Given the description of an element on the screen output the (x, y) to click on. 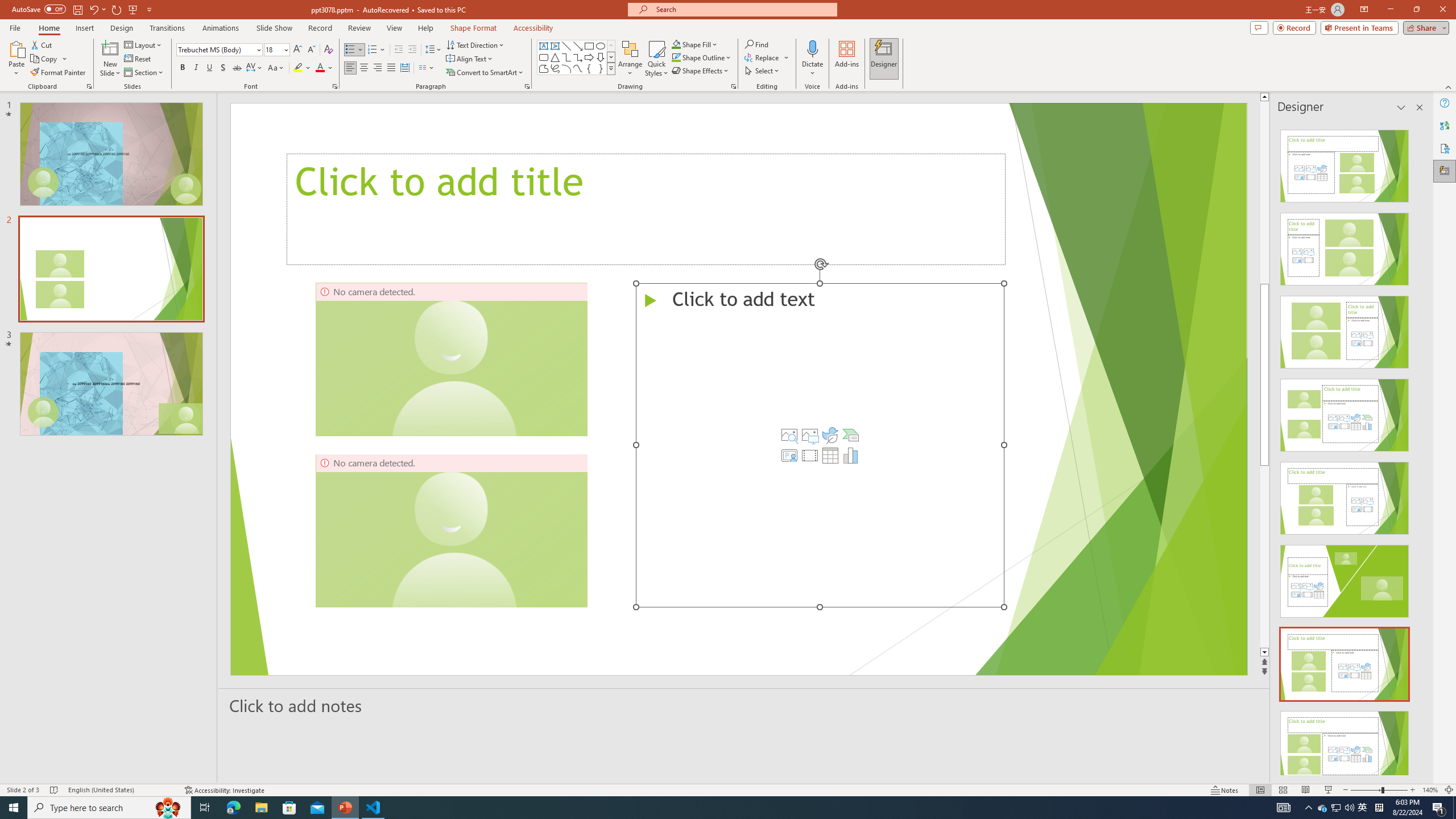
Insert Chart (850, 455)
Design Idea (1344, 743)
